Given the description of an element on the screen output the (x, y) to click on. 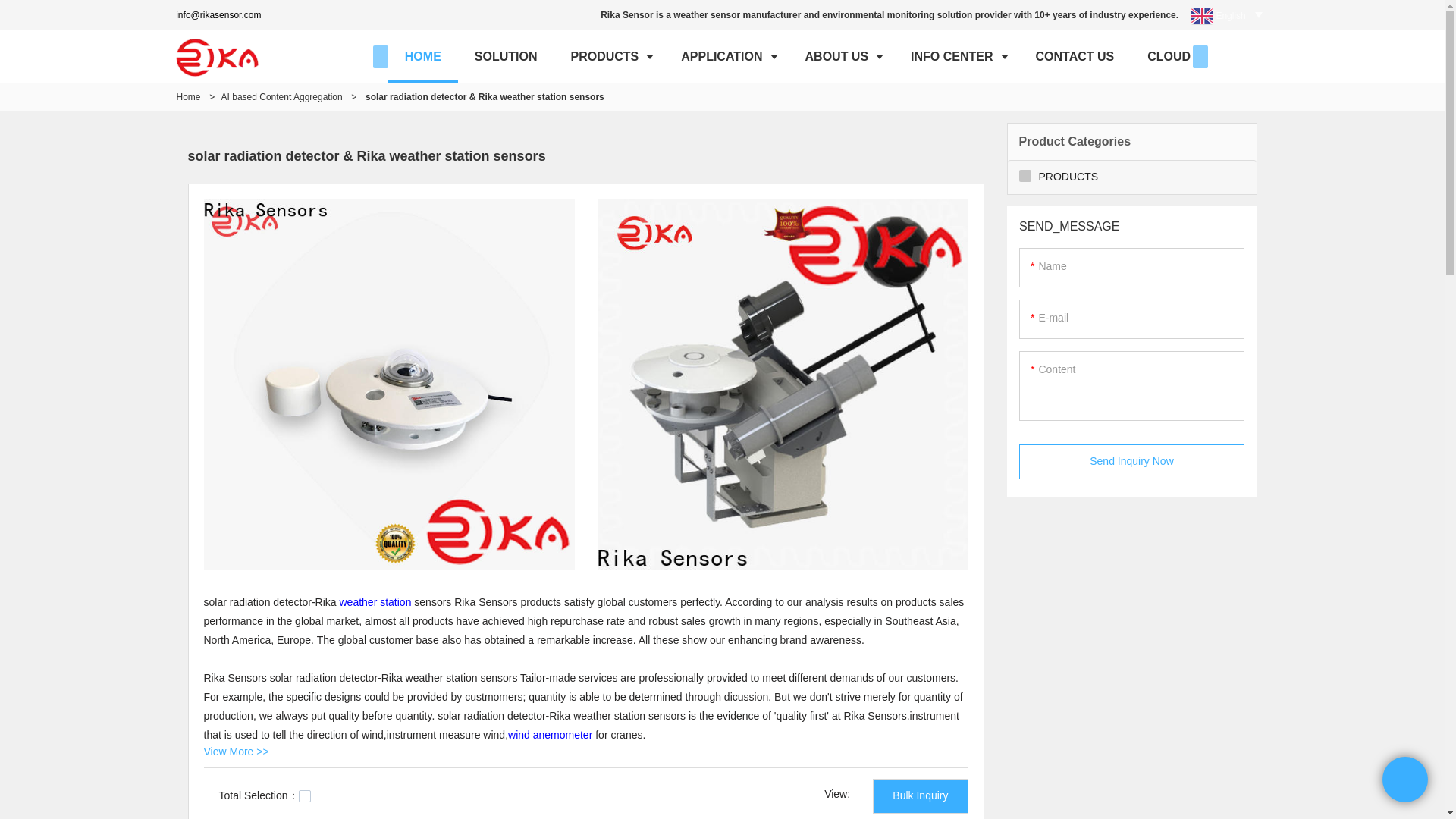
SOLUTION (506, 56)
PRODUCTS (608, 56)
on (304, 796)
HOME (423, 56)
APPLICATION (725, 56)
